Given the description of an element on the screen output the (x, y) to click on. 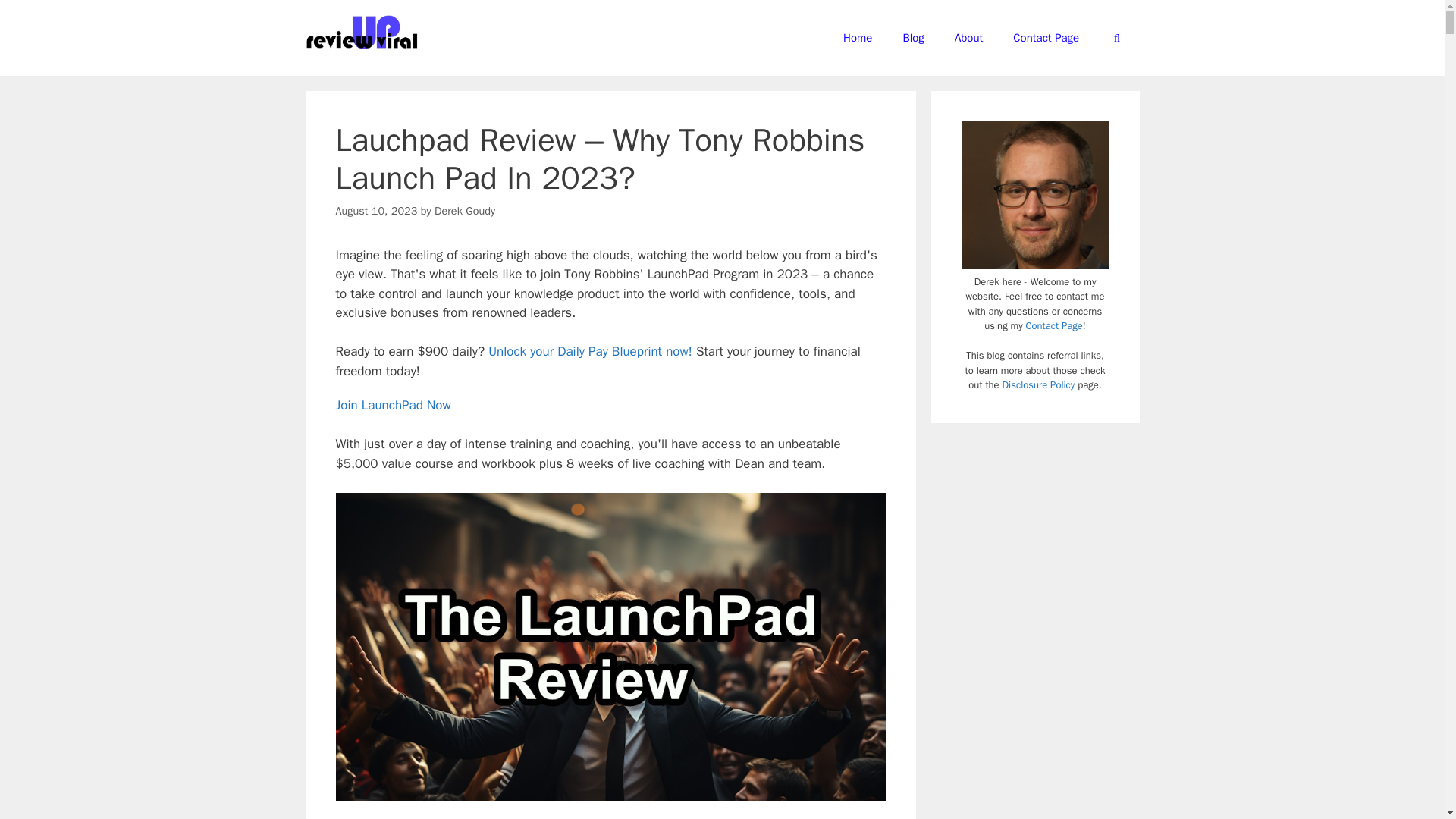
Join LaunchPad Now (391, 405)
Blog (912, 37)
Unlock your Daily Pay Blueprint now! (590, 351)
View all posts by Derek Goudy (464, 210)
Derek Goudy (464, 210)
Home (857, 37)
Contact Page (1045, 37)
About (968, 37)
